Given the description of an element on the screen output the (x, y) to click on. 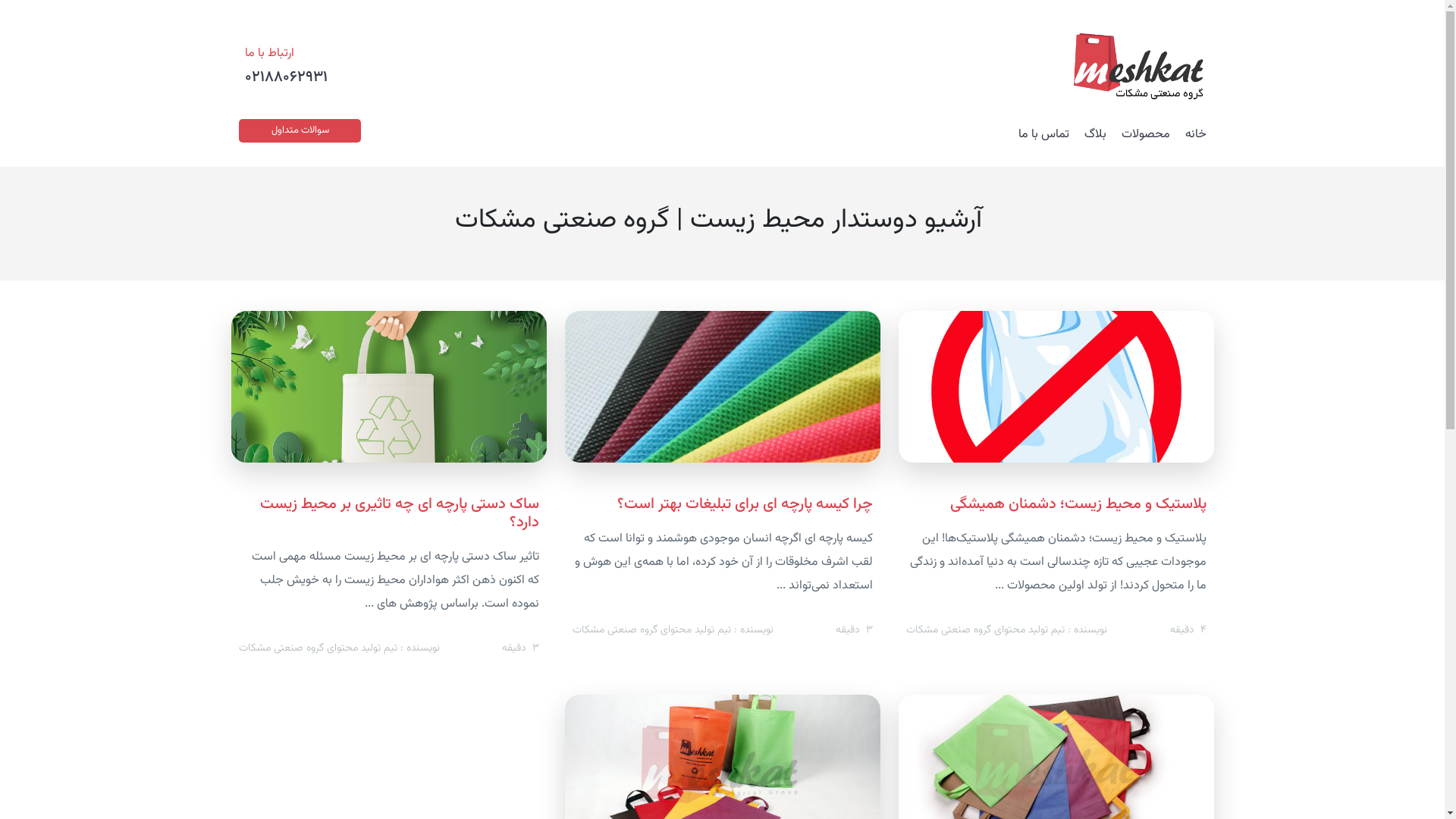
02188062931 Element type: text (285, 76)
